Given the description of an element on the screen output the (x, y) to click on. 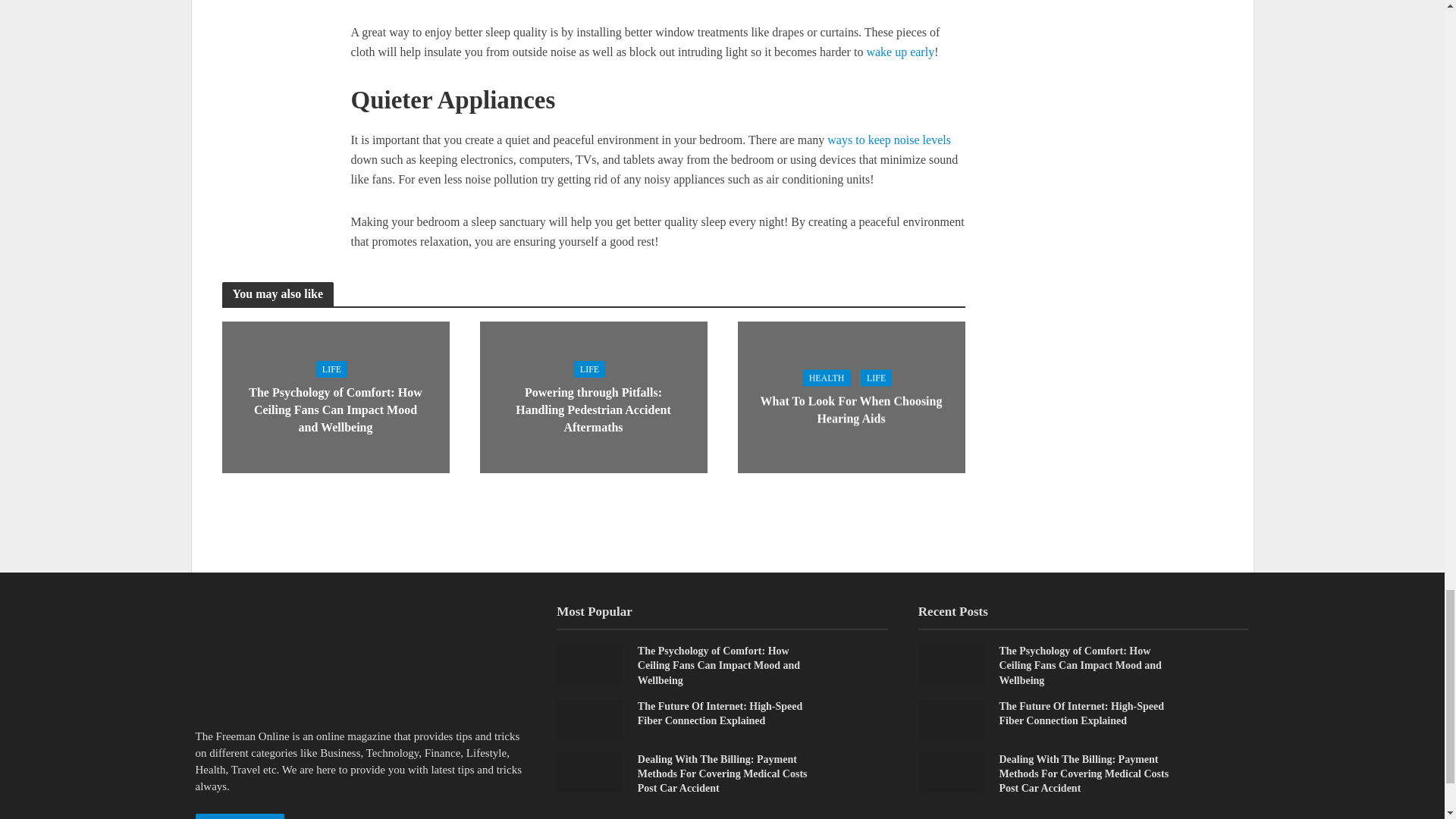
What To Look For When Choosing Hearing Aids (849, 395)
